Given the description of an element on the screen output the (x, y) to click on. 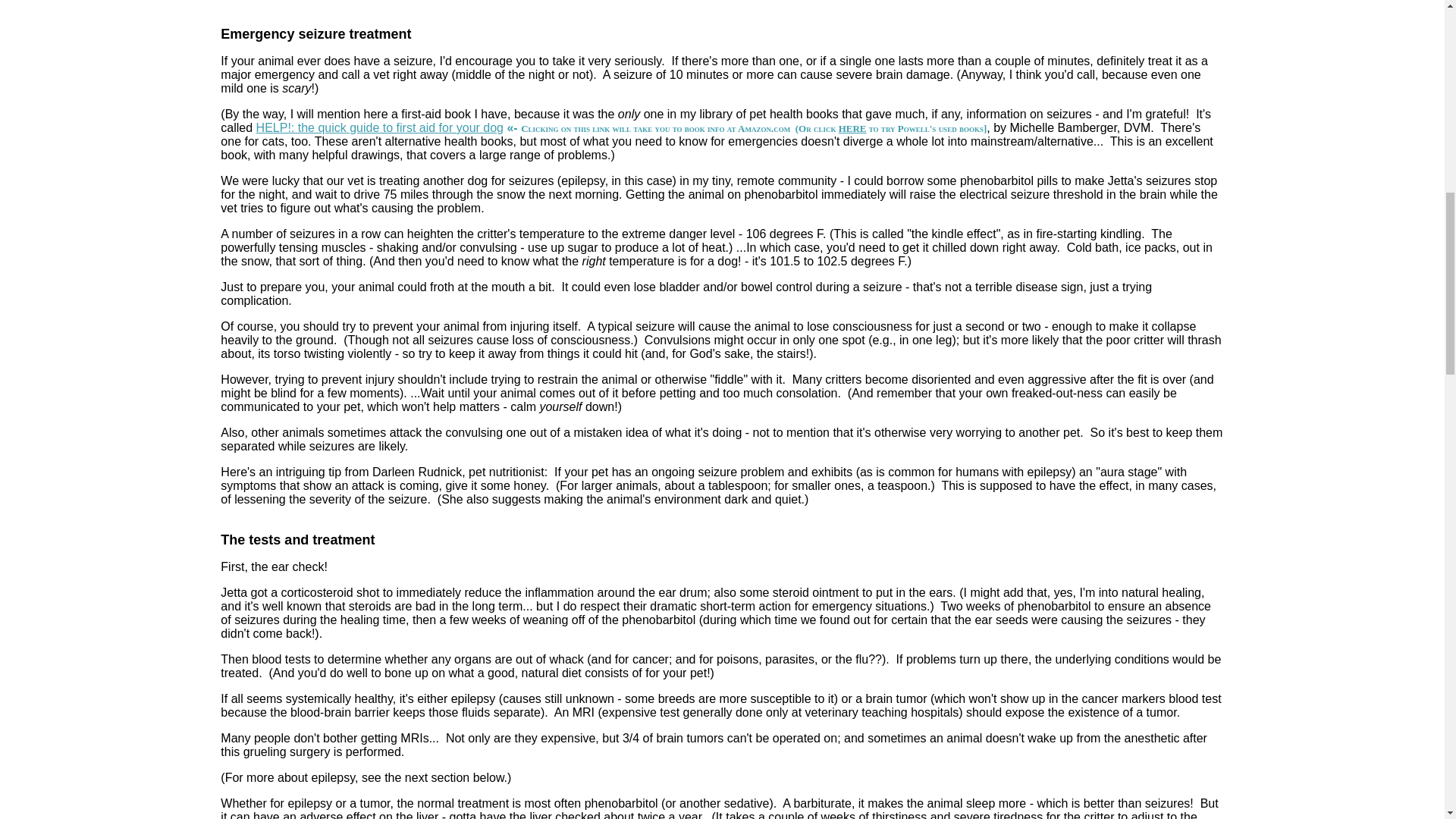
HELP!: the quick guide to first aid for your dog (379, 127)
HERE (852, 128)
